Given the description of an element on the screen output the (x, y) to click on. 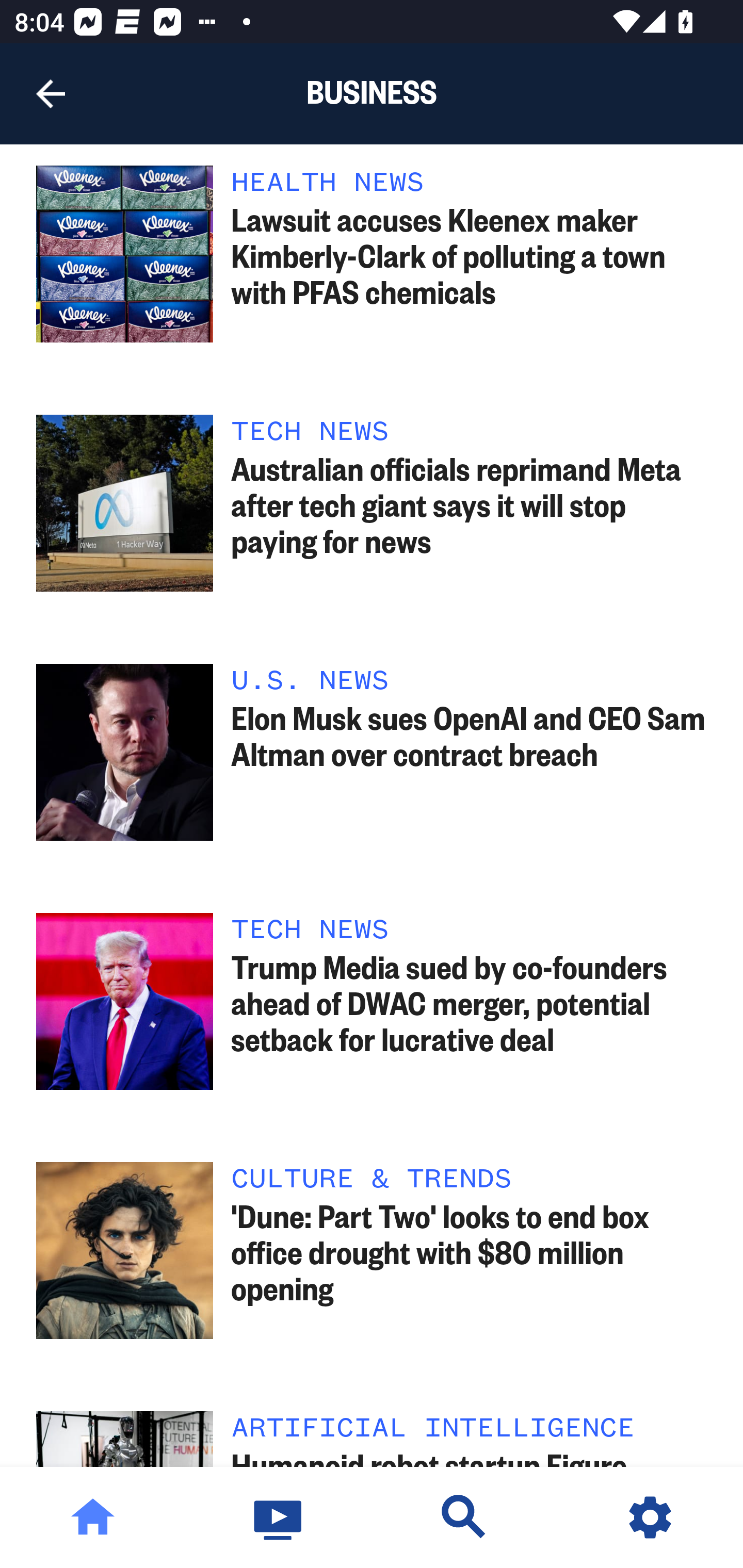
Navigate up (50, 93)
Watch (278, 1517)
Discover (464, 1517)
Settings (650, 1517)
